Given the description of an element on the screen output the (x, y) to click on. 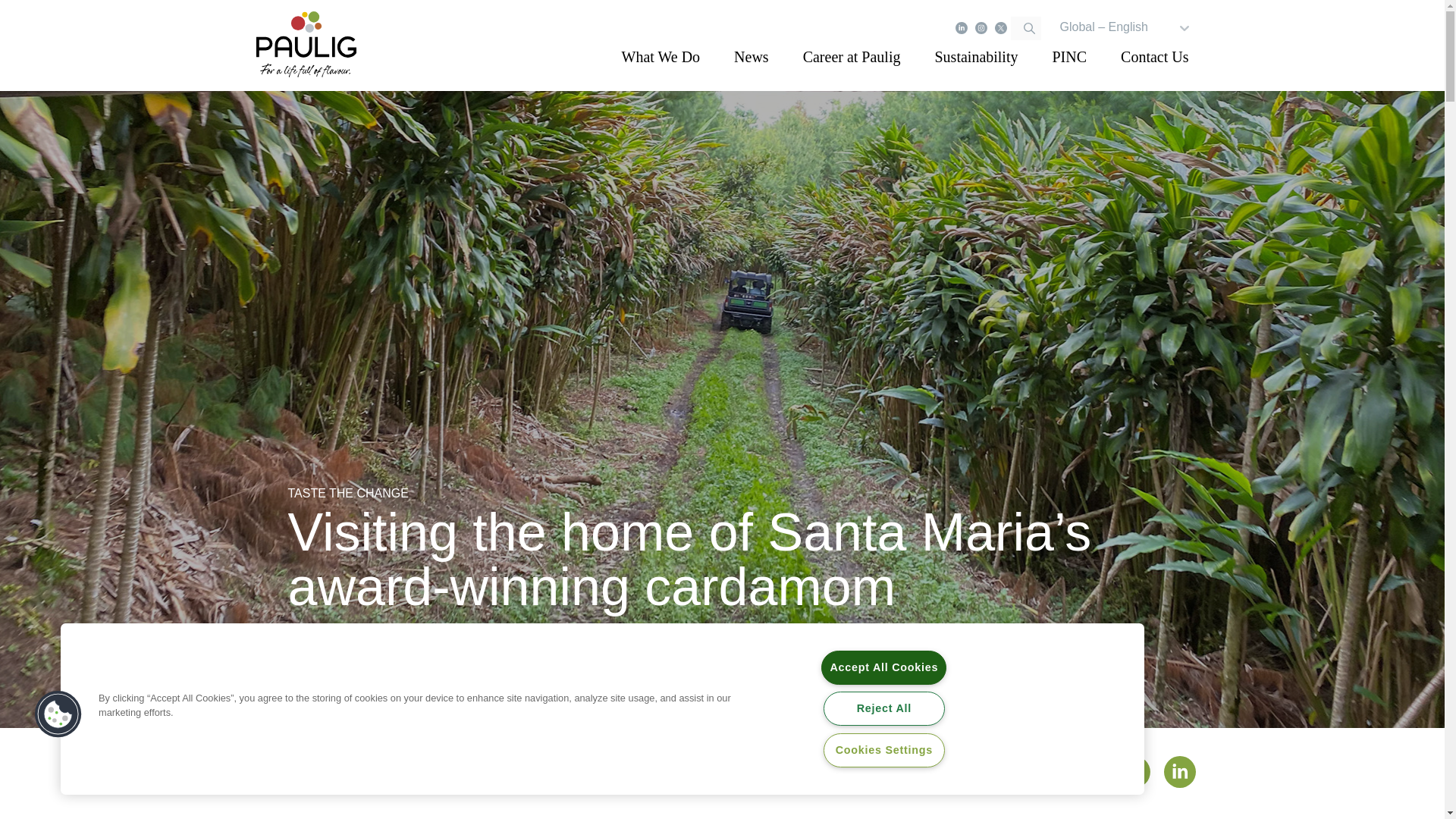
Career at Paulig (852, 56)
Sustainability (975, 56)
Instagram (981, 28)
News (750, 56)
Twitter (1000, 28)
What We Do (660, 56)
Cookies Button (57, 714)
LinkedIn (961, 28)
